Given the description of an element on the screen output the (x, y) to click on. 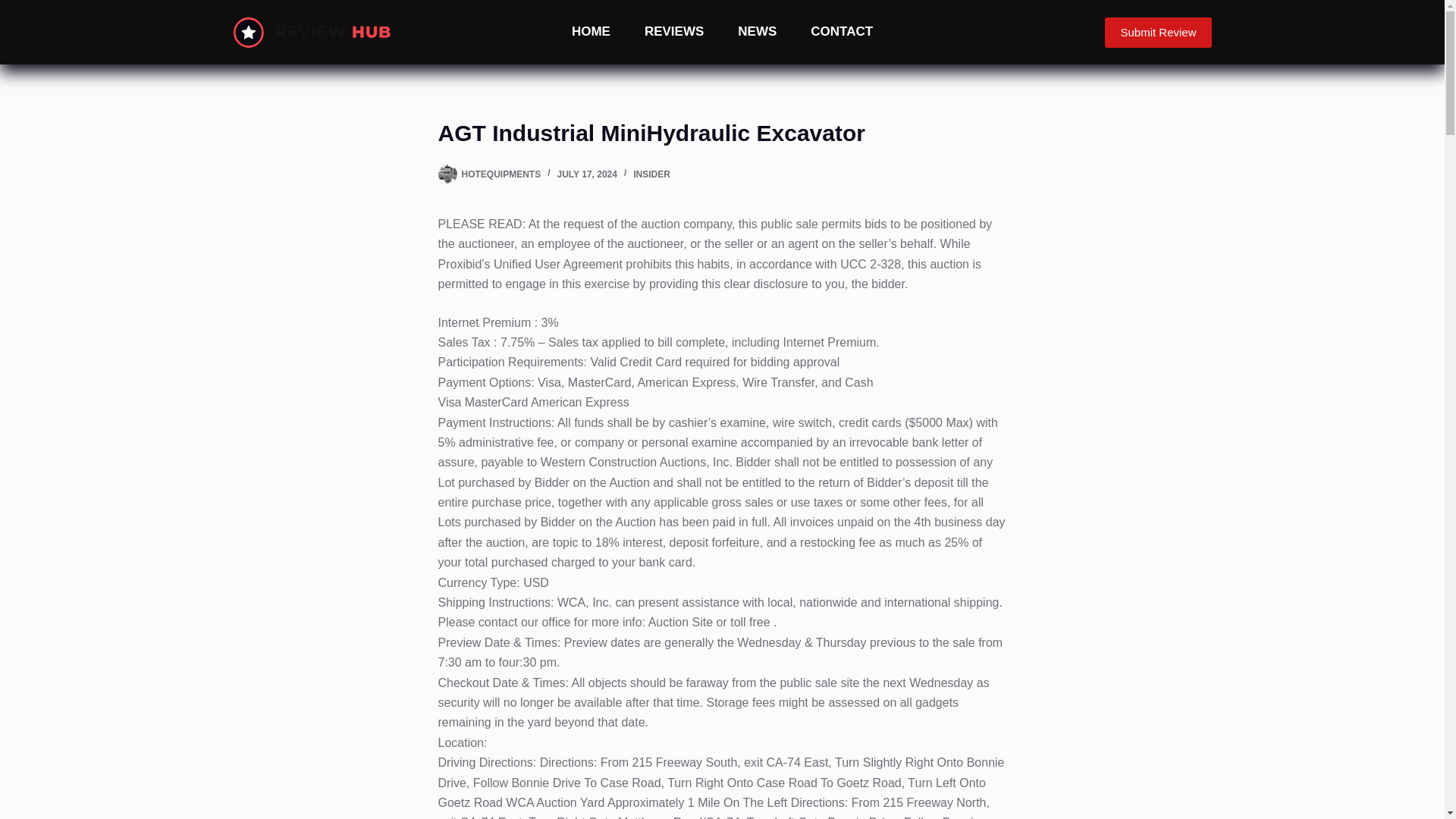
INSIDER (651, 173)
AGT Industrial MiniHydraulic Excavator (722, 132)
Posts by hotequipments (500, 173)
HOME (590, 32)
Skip to content (15, 7)
CONTACT (841, 32)
NEWS (756, 32)
HOTEQUIPMENTS (500, 173)
Submit Review (1158, 31)
REVIEWS (673, 32)
